Given the description of an element on the screen output the (x, y) to click on. 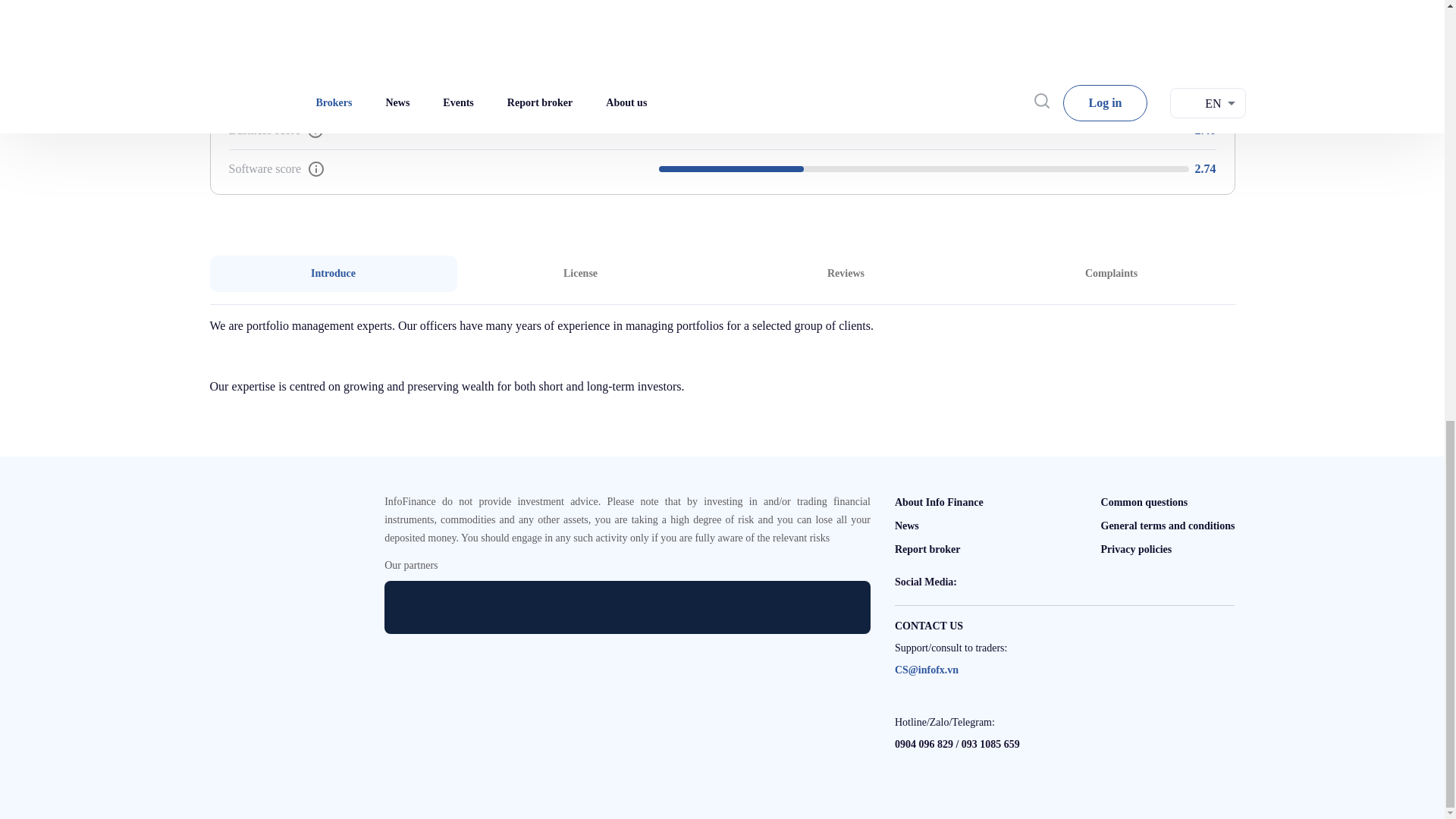
About Info Finance (939, 501)
Reviews (845, 273)
Common questions (1144, 501)
General terms and conditions (1167, 525)
Introduce (721, 273)
Complaints (333, 273)
License (1110, 273)
Report broker (580, 273)
News (927, 549)
Privacy policies (906, 525)
